Given the description of an element on the screen output the (x, y) to click on. 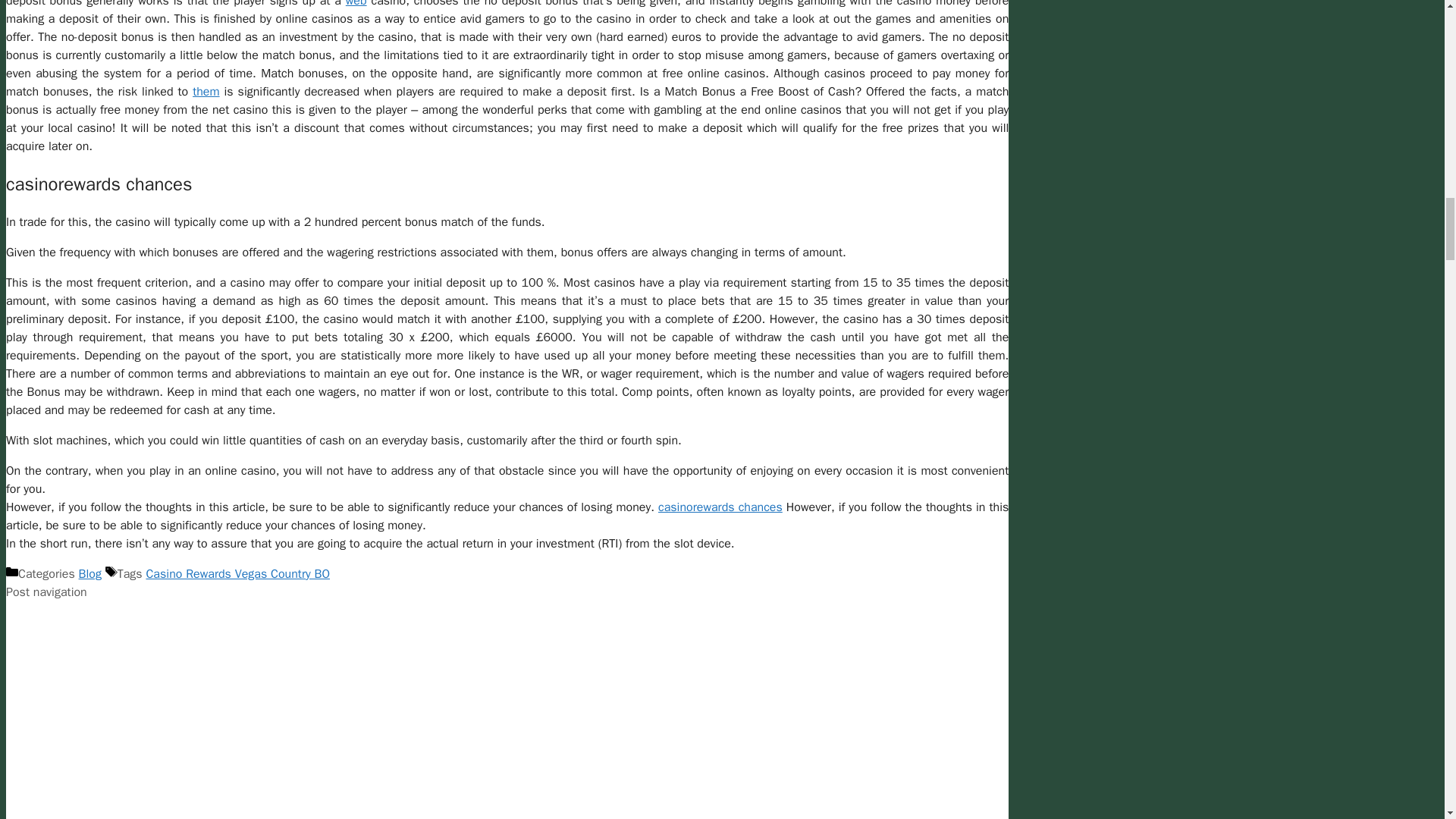
them (205, 91)
Blog (89, 573)
casinorewards chances (720, 507)
web (356, 4)
Casino Rewards Vegas Country BO (237, 573)
